Given the description of an element on the screen output the (x, y) to click on. 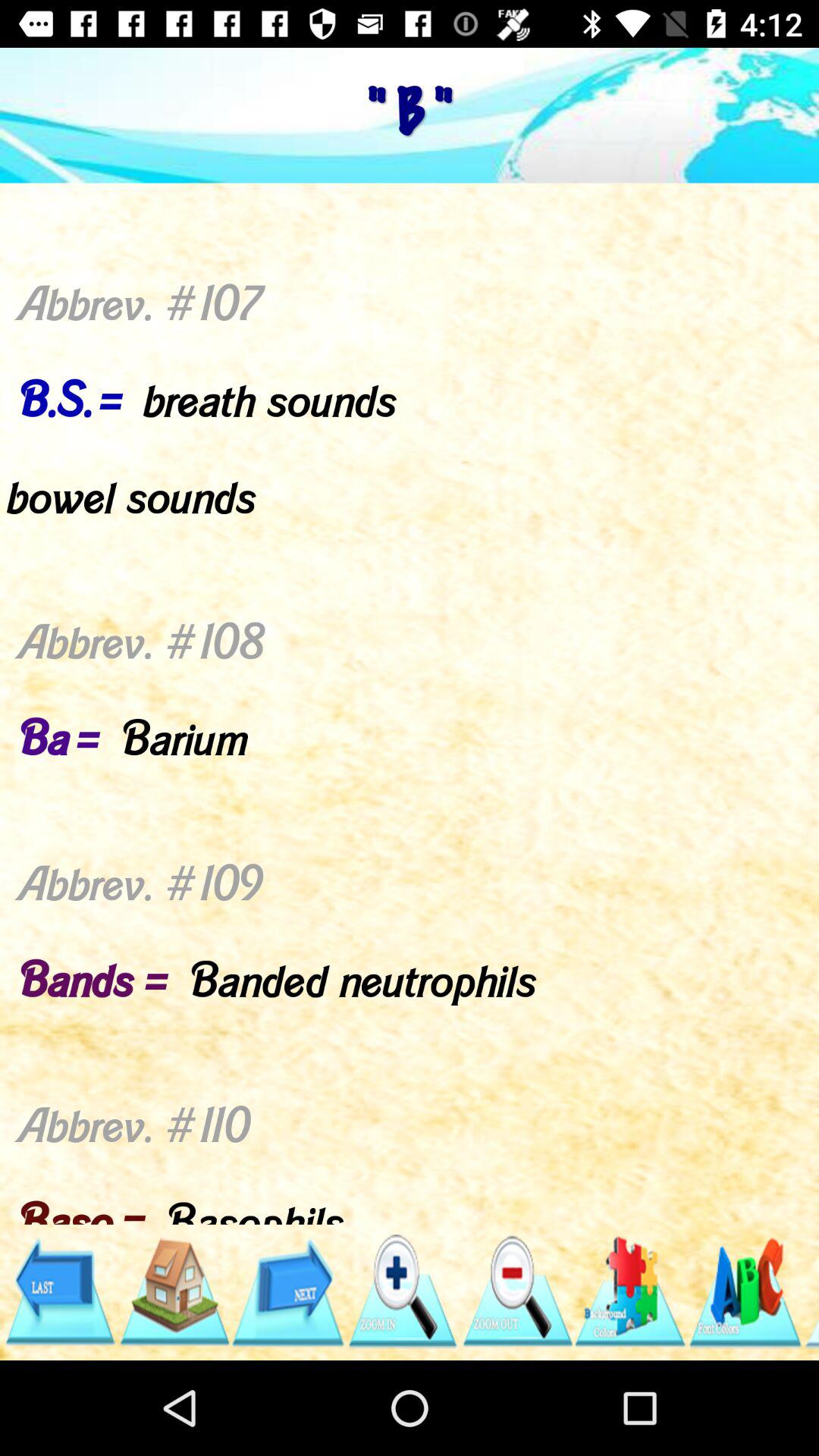
go to home (173, 1291)
